Given the description of an element on the screen output the (x, y) to click on. 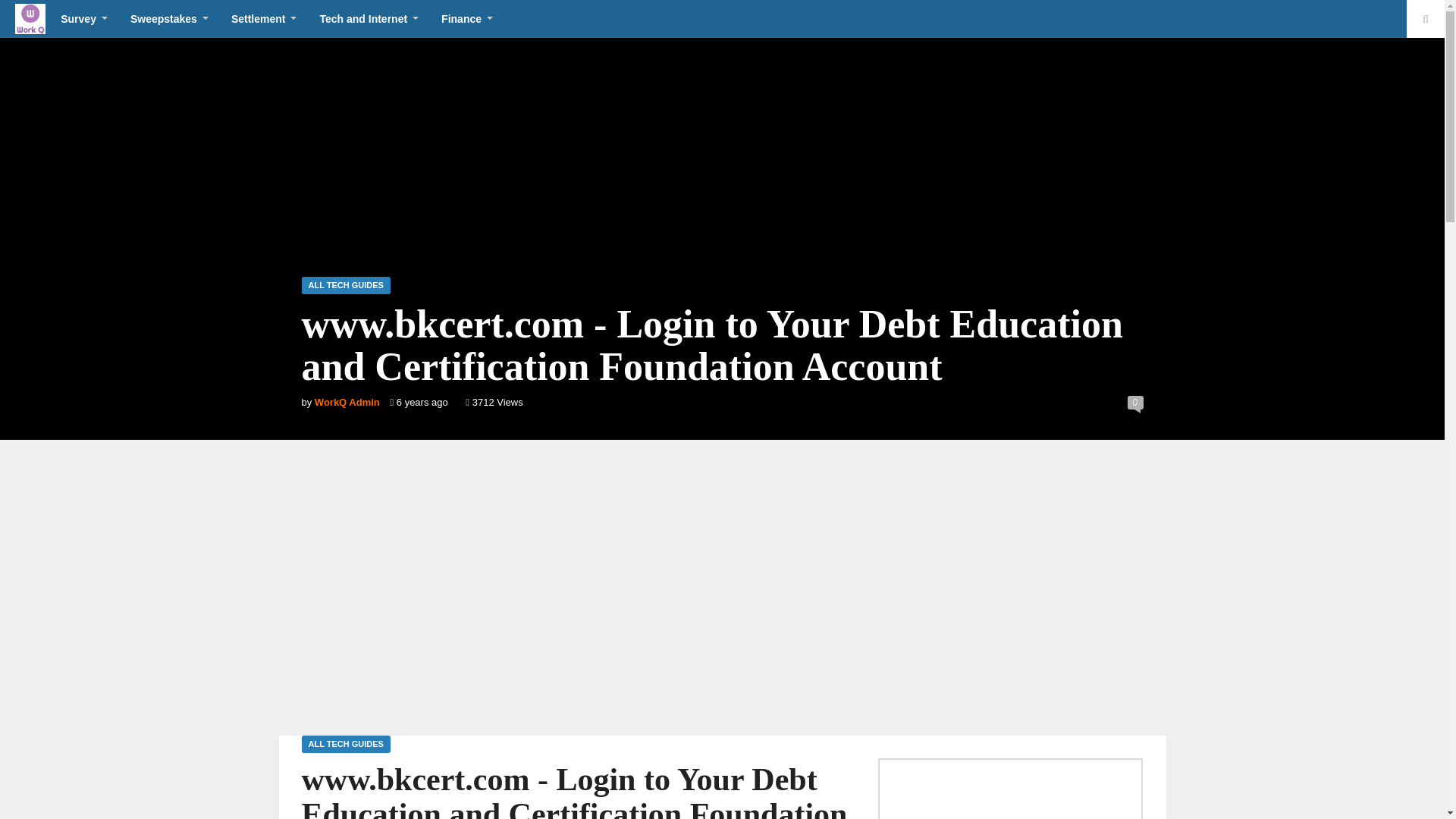
Sweepstakes (169, 18)
ALL TECH GUIDES (345, 285)
WorkQ Admin (347, 401)
Finance (466, 18)
Survey (84, 18)
Work Q -Online Guides and Tutorials For You (29, 19)
Tech and Internet (368, 18)
Settlement (263, 18)
Advertisement (721, 606)
Advertisement (1010, 796)
